Given the description of an element on the screen output the (x, y) to click on. 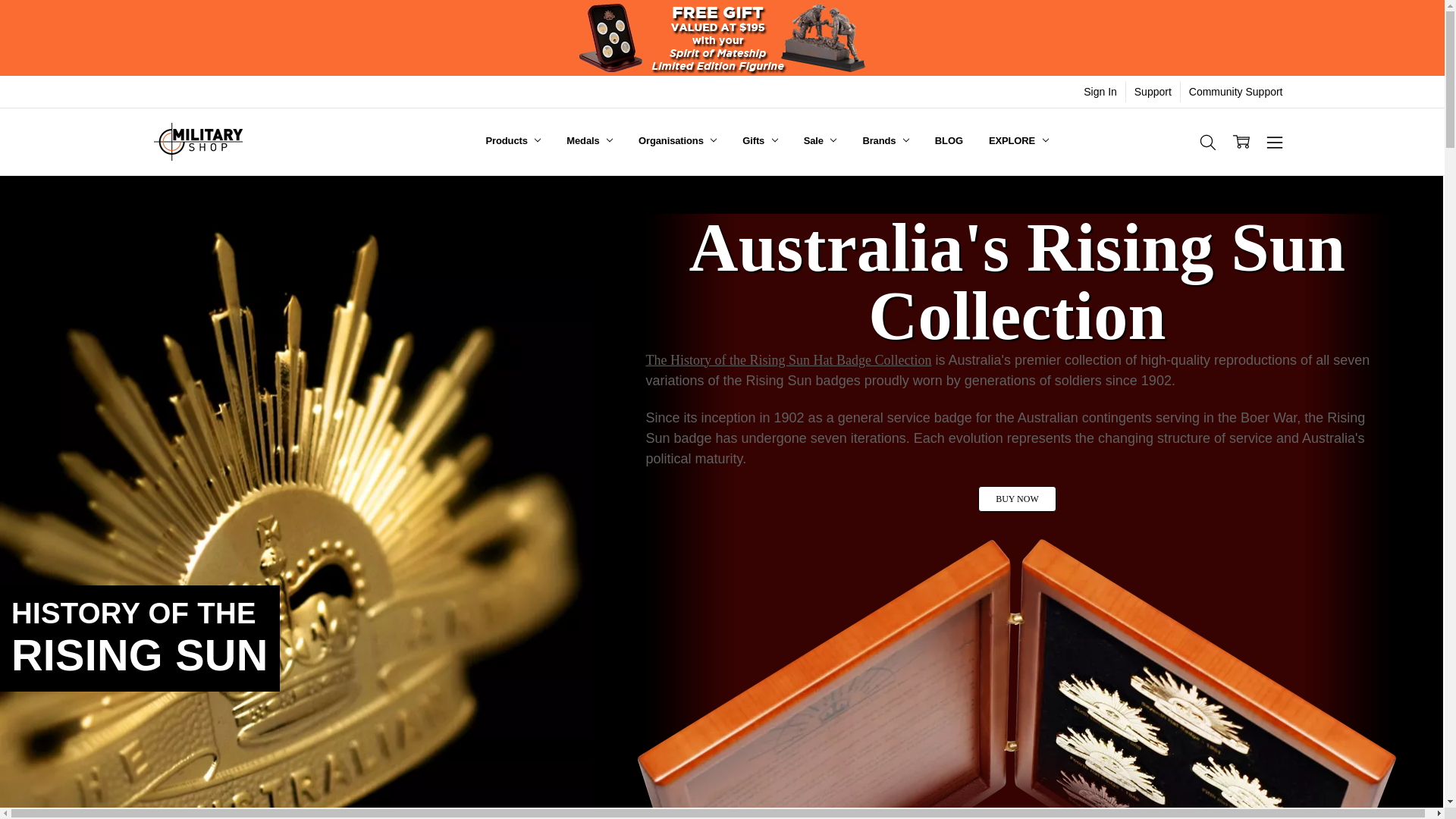
Sign In (1100, 91)
Support (1152, 91)
Community Support (1235, 91)
Products (513, 141)
Military Shop (196, 141)
